Given the description of an element on the screen output the (x, y) to click on. 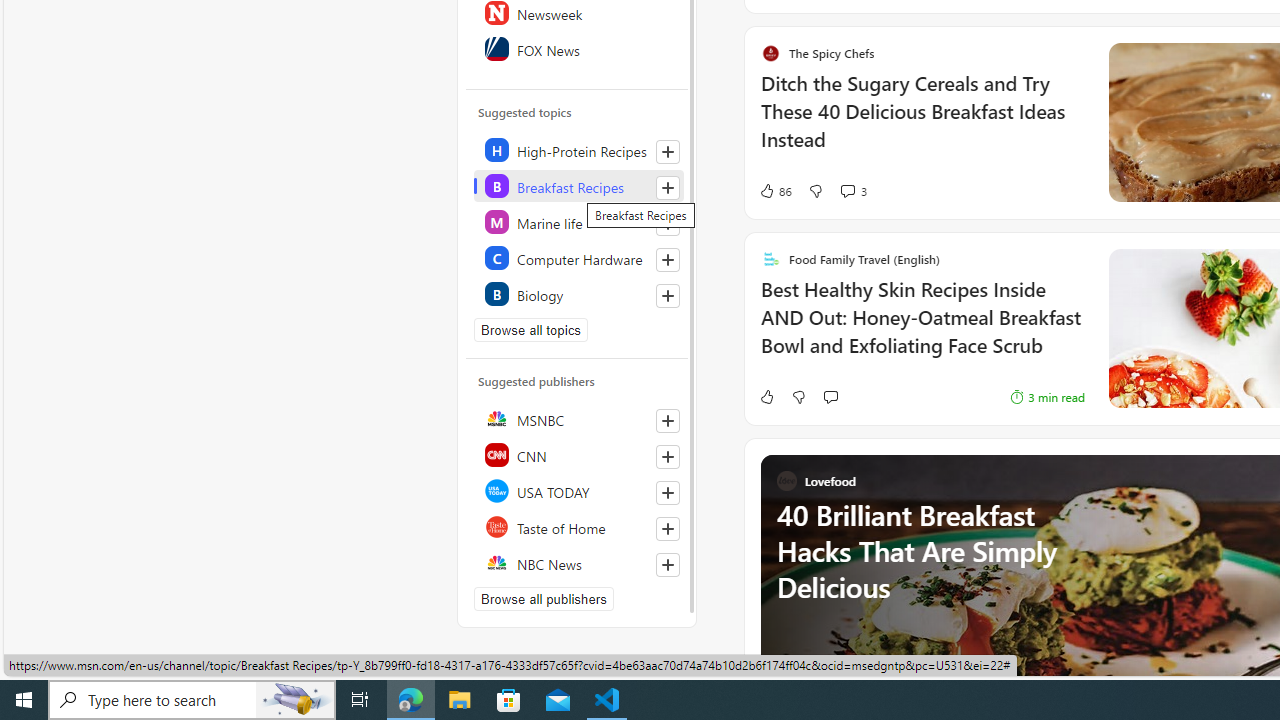
Taste of Home (578, 526)
Follow this source (667, 564)
CNN (578, 454)
View comments 3 Comment (852, 191)
NBC News (578, 562)
View comments 3 Comment (847, 190)
Class: highlight (578, 293)
